Given the description of an element on the screen output the (x, y) to click on. 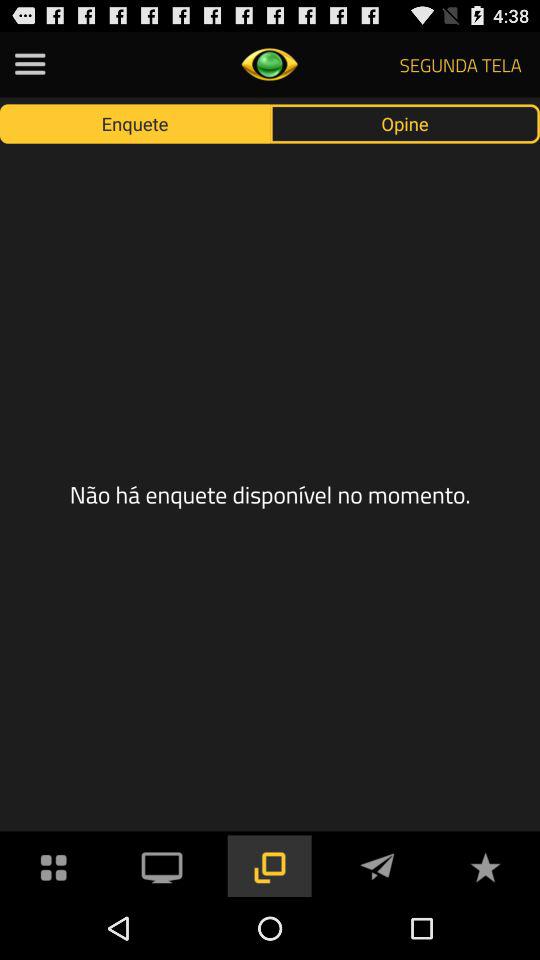
send (377, 865)
